Given the description of an element on the screen output the (x, y) to click on. 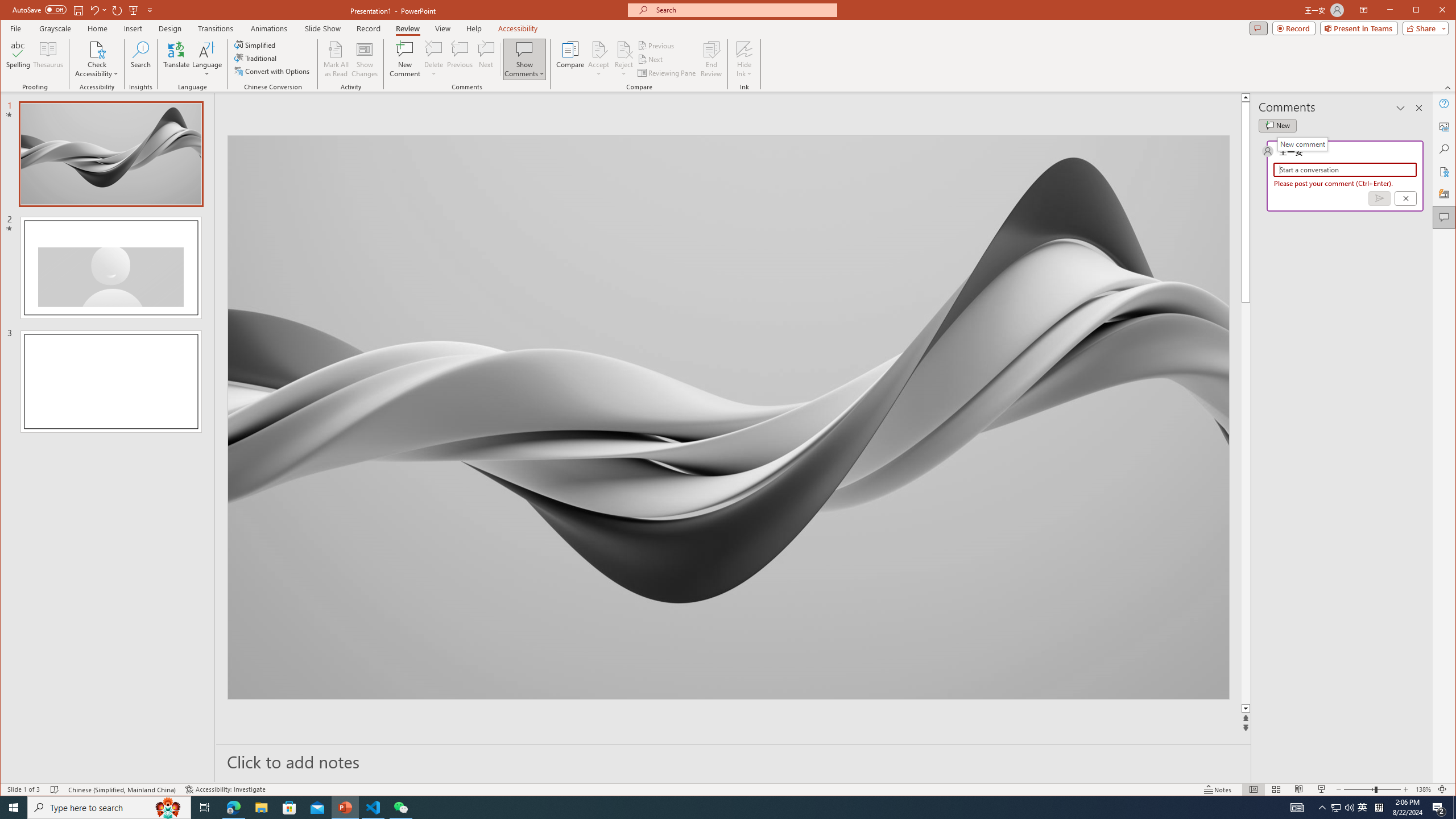
Undo (94, 9)
Show Changes (365, 59)
Collapse the Ribbon (1448, 87)
Undo (98, 9)
Ribbon Display Options (1364, 9)
WeChat - 1 running window (400, 807)
Previous (657, 45)
From Beginning (133, 9)
View (443, 28)
Mark All as Read (335, 59)
Present in Teams (1358, 28)
Close (1444, 11)
Wavy 3D art (728, 416)
System (10, 10)
